Given the description of an element on the screen output the (x, y) to click on. 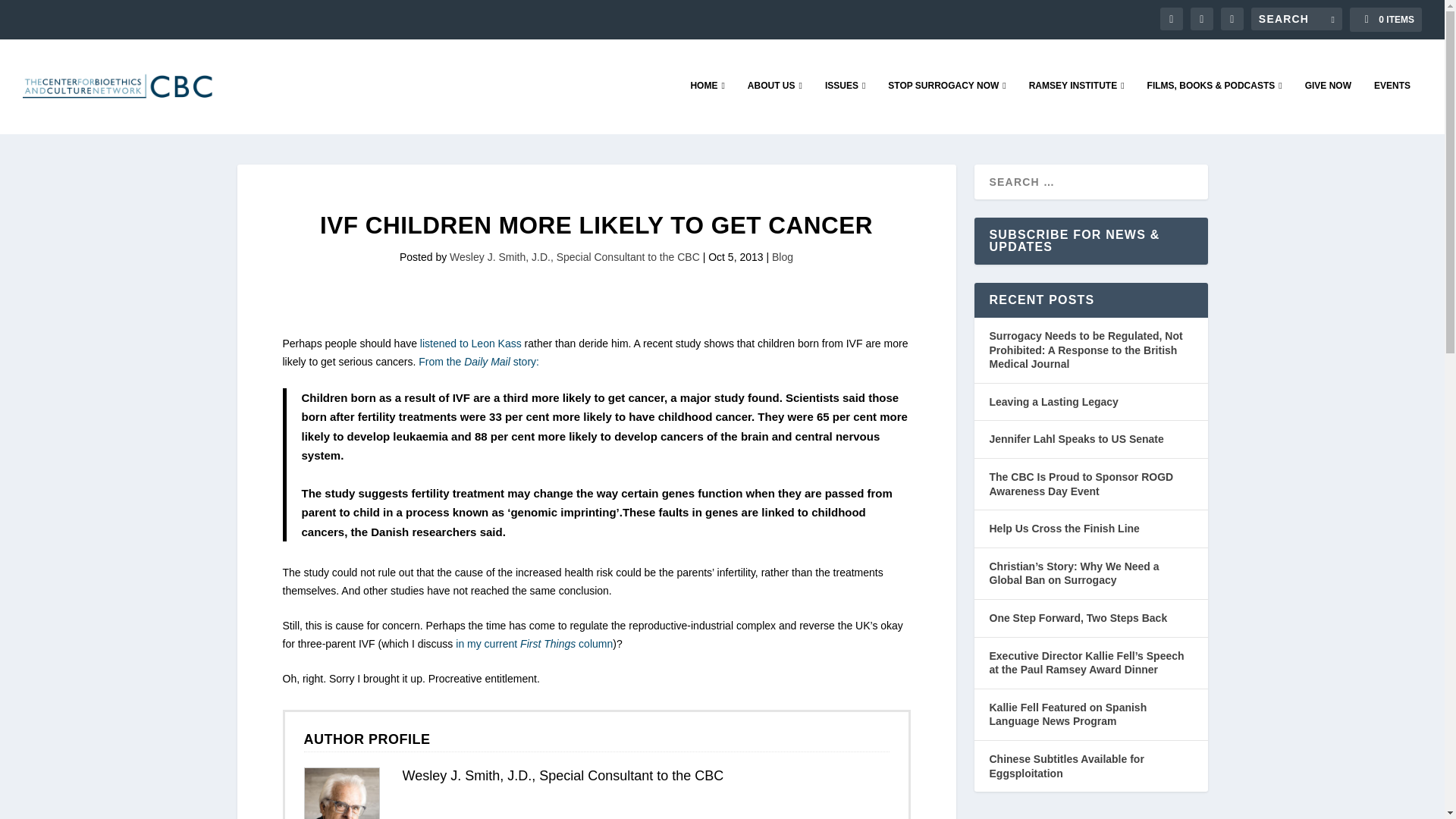
0 ITEMS (1385, 19)
RAMSEY INSTITUTE (1076, 106)
0 Items in Cart (1385, 19)
STOP SURROGACY NOW (947, 106)
Search for: (1296, 18)
ABOUT US (775, 106)
